Given the description of an element on the screen output the (x, y) to click on. 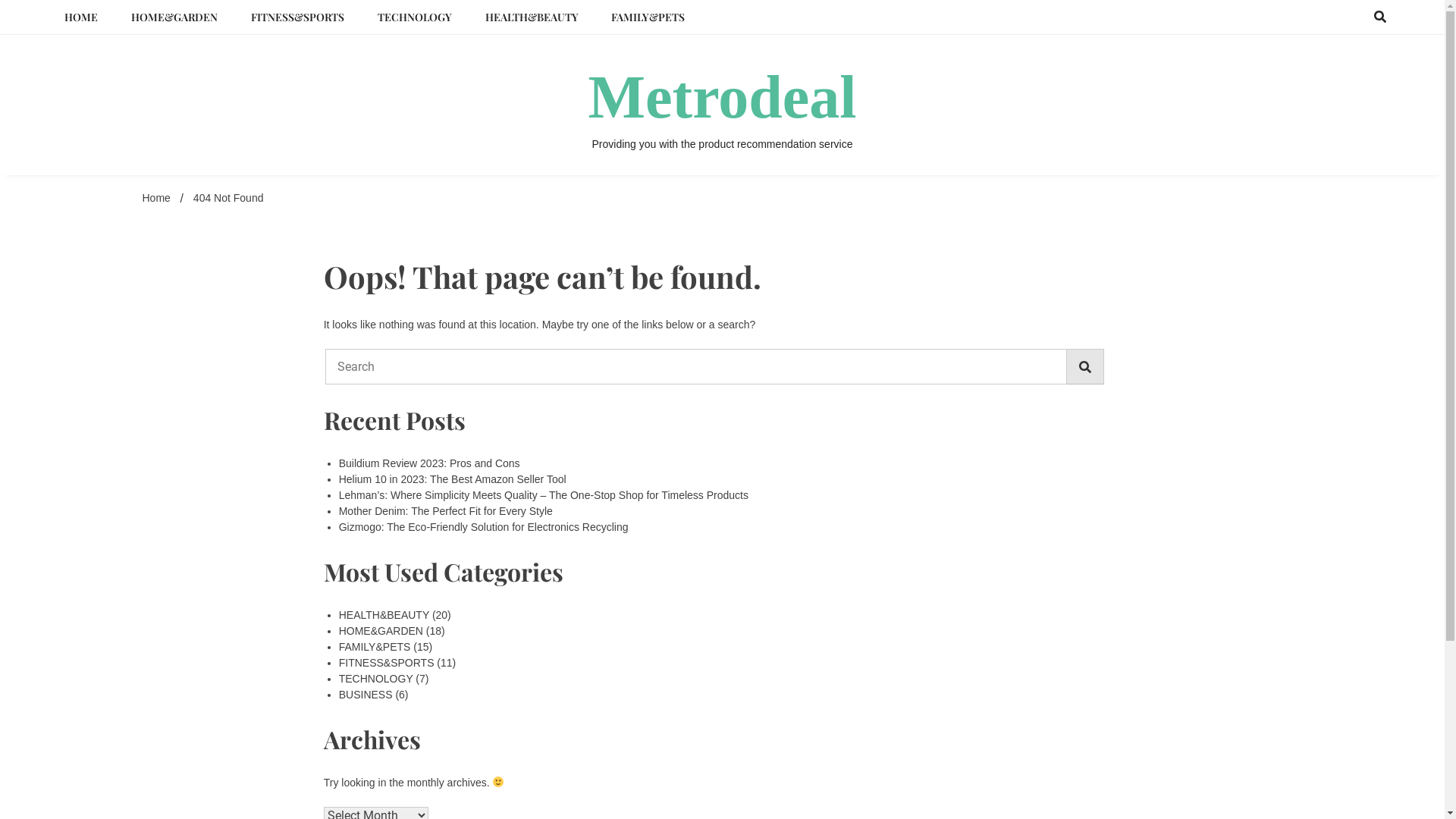
HOME&GARDEN Element type: text (380, 630)
FITNESS&SPORTS Element type: text (297, 17)
Helium 10 in 2023: The Best Amazon Seller Tool Element type: text (452, 479)
HOME Element type: text (80, 17)
Mother Denim: The Perfect Fit for Every Style Element type: text (445, 511)
HOME&GARDEN Element type: text (174, 17)
HEALTH&BEAUTY Element type: text (531, 17)
Buildium Review 2023: Pros and Cons Element type: text (429, 463)
TECHNOLOGY Element type: text (414, 17)
FITNESS&SPORTS Element type: text (386, 662)
FAMILY&PETS Element type: text (374, 646)
FAMILY&PETS Element type: text (647, 17)
HEALTH&BEAUTY Element type: text (383, 614)
BUSINESS Element type: text (365, 694)
Metrodeal Element type: text (722, 96)
Gizmogo: The Eco-Friendly Solution for Electronics Recycling Element type: text (483, 526)
TECHNOLOGY Element type: text (375, 678)
Home Element type: text (156, 197)
